Given the description of an element on the screen output the (x, y) to click on. 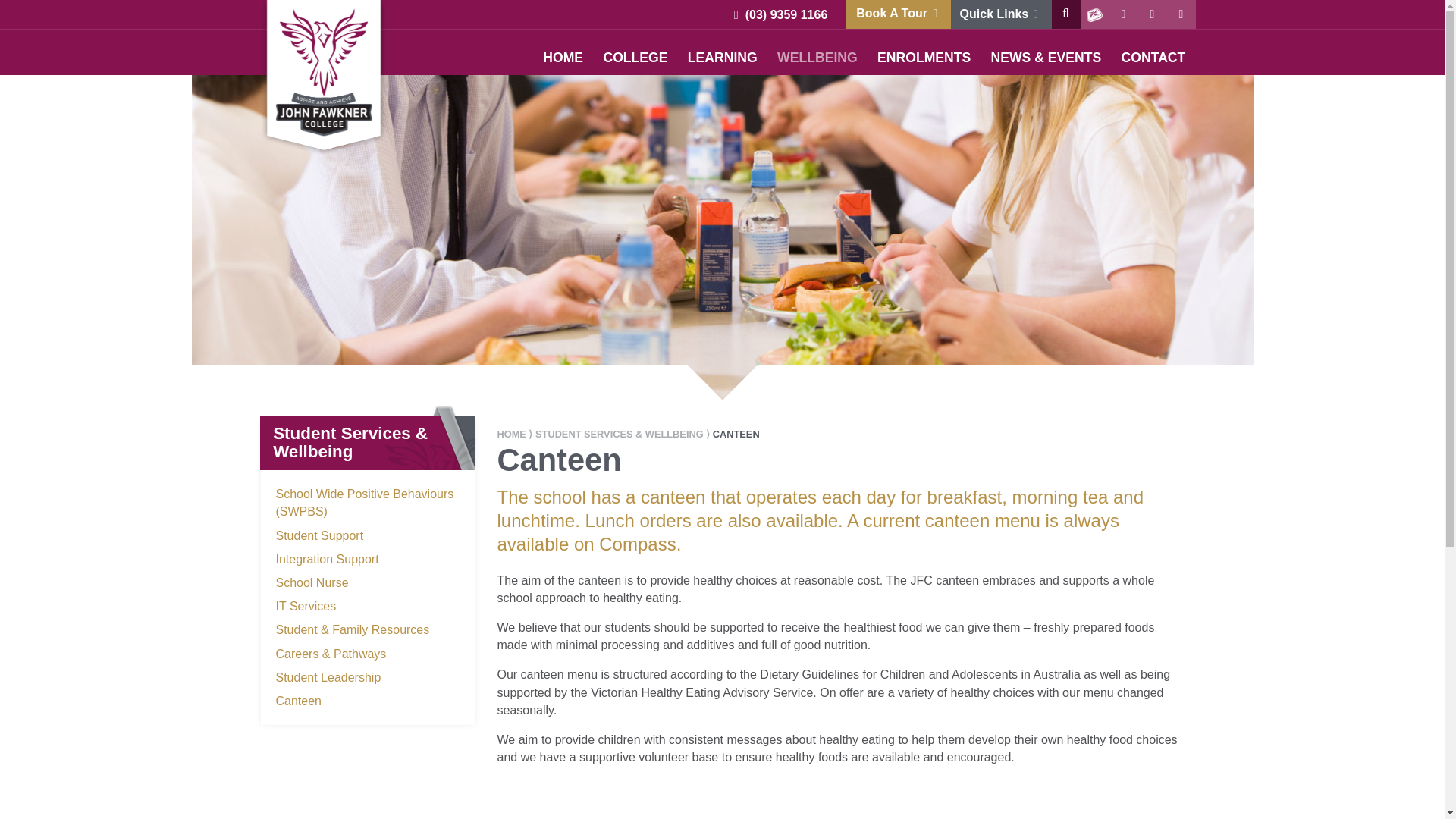
Learning (722, 58)
Quick Links (1000, 14)
LEARNING (722, 58)
Quick Links (1000, 14)
COLLEGE (634, 58)
College (634, 58)
Home (562, 58)
WELLBEING (817, 58)
HOME (562, 58)
Book A Tour (897, 14)
